Given the description of an element on the screen output the (x, y) to click on. 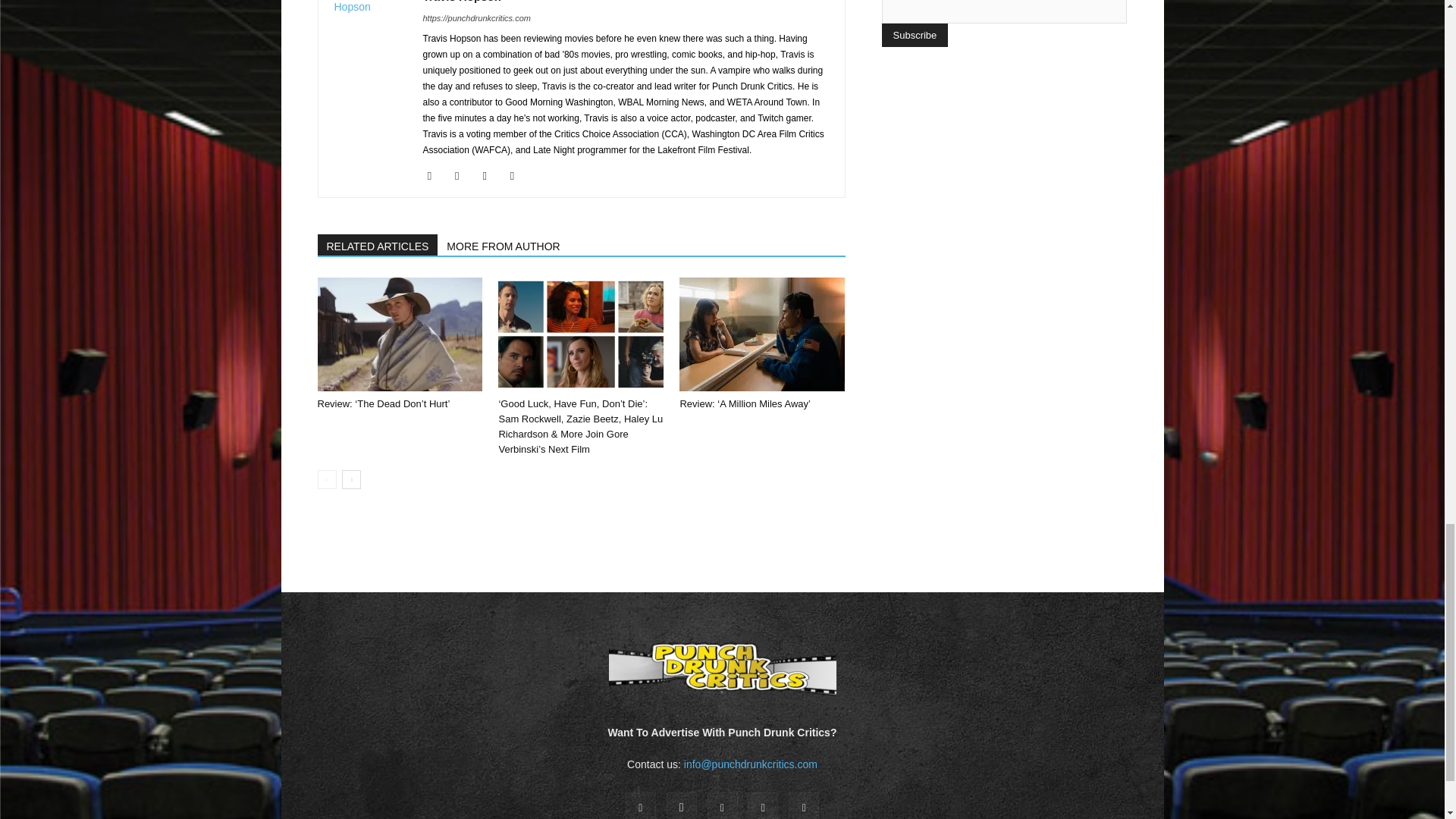
Subscribe (913, 34)
